Given the description of an element on the screen output the (x, y) to click on. 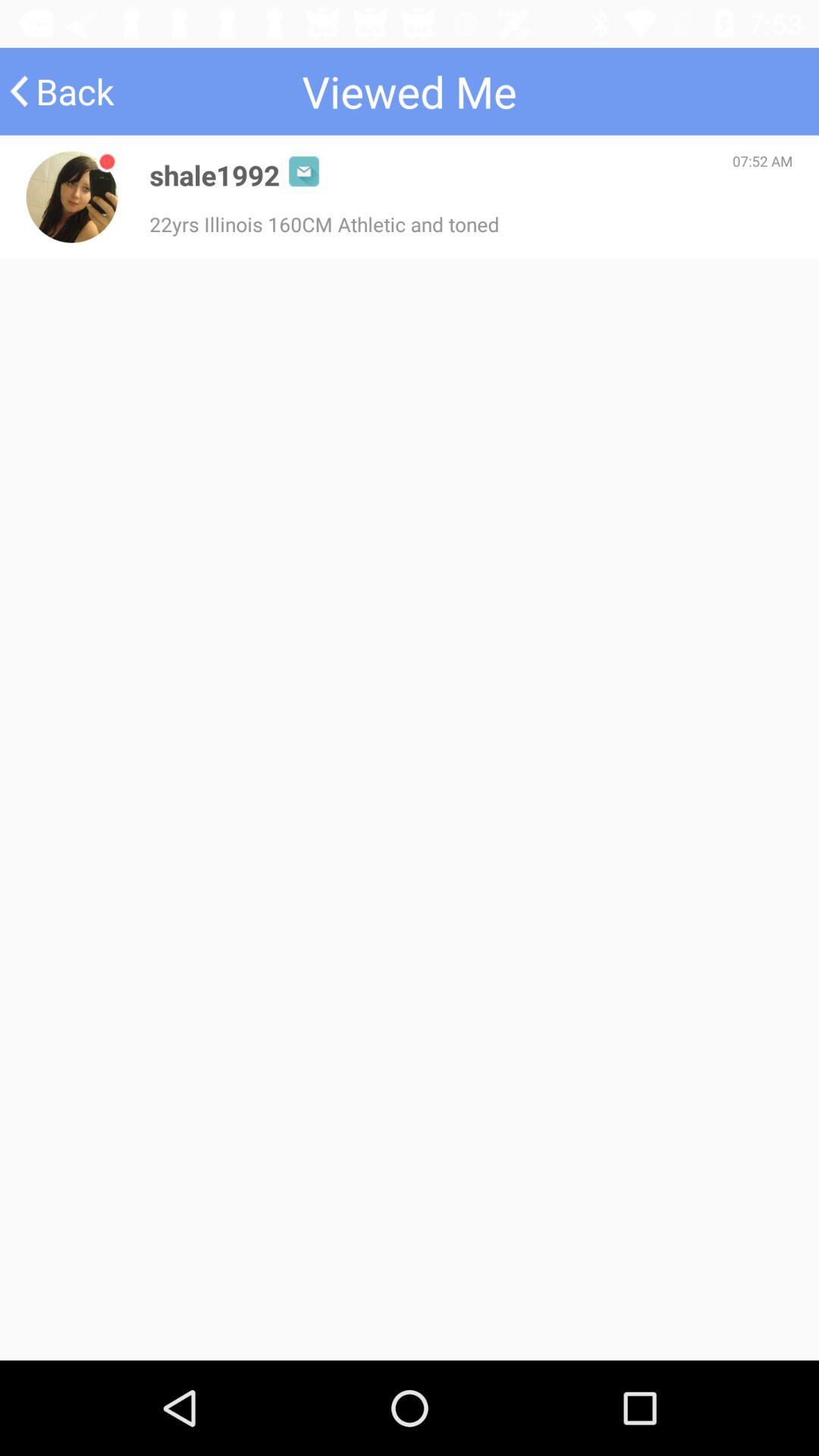
select the shale1992 item (214, 174)
